Given the description of an element on the screen output the (x, y) to click on. 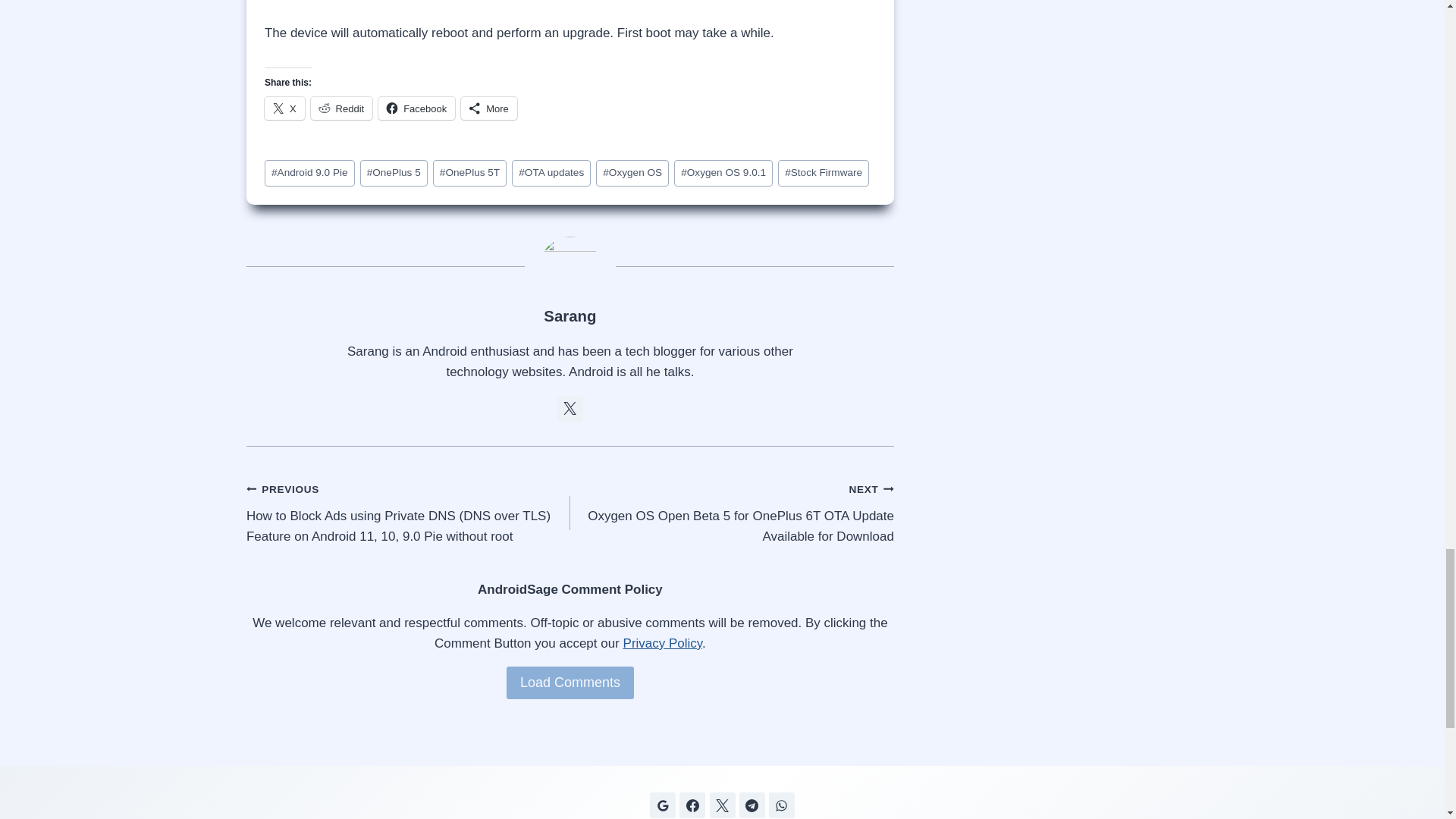
Reddit (341, 108)
Click to share on Facebook (416, 108)
More (488, 108)
Facebook (416, 108)
Click to share on X (284, 108)
Click to share on Reddit (341, 108)
X (284, 108)
